Given the description of an element on the screen output the (x, y) to click on. 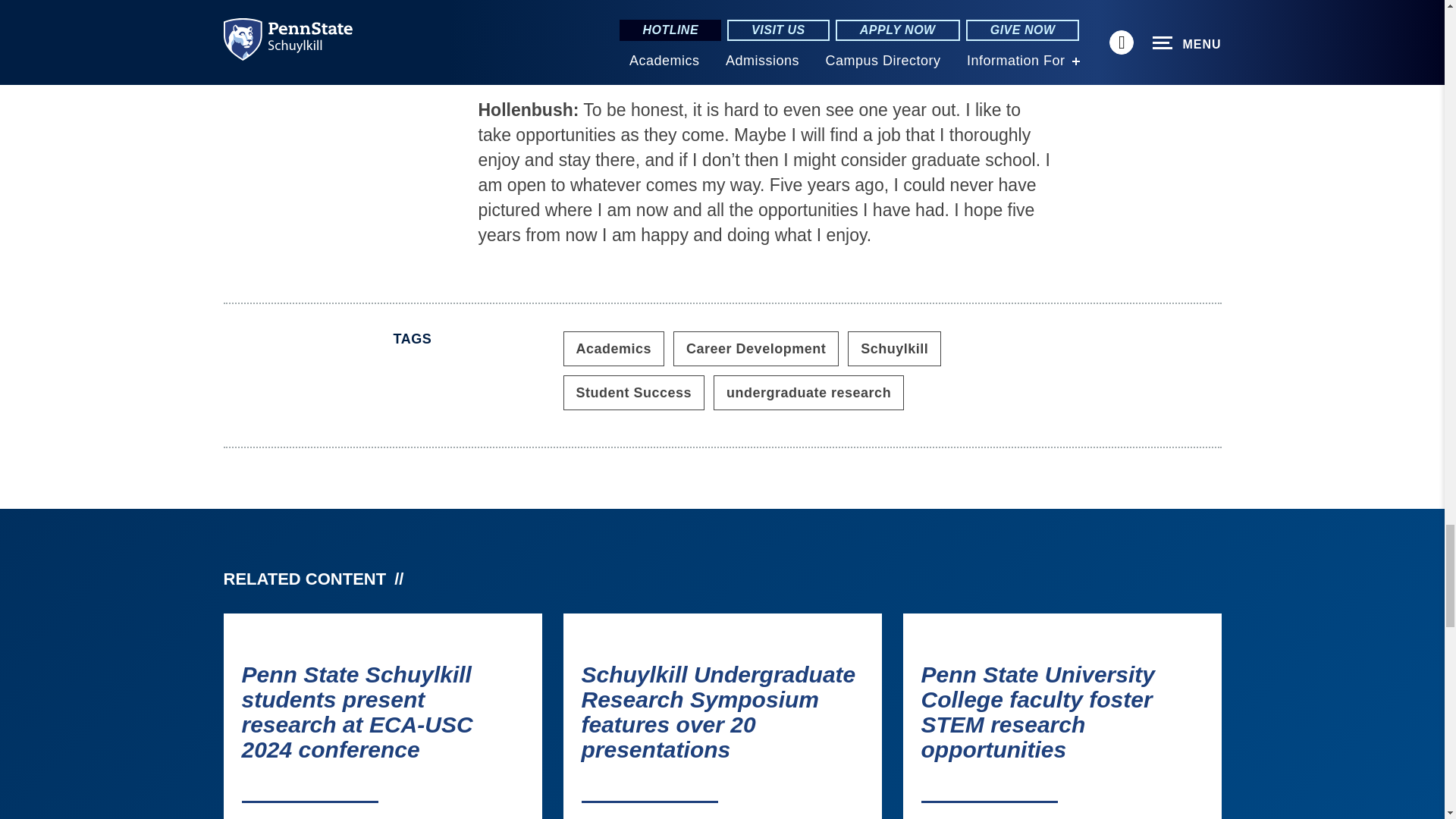
Content tagged with Schuylkill (893, 348)
Content tagged with undergraduate research (808, 392)
Content tagged with Academics (612, 348)
Content tagged with Student Success (633, 392)
Content tagged with Career Development (755, 348)
